Given the description of an element on the screen output the (x, y) to click on. 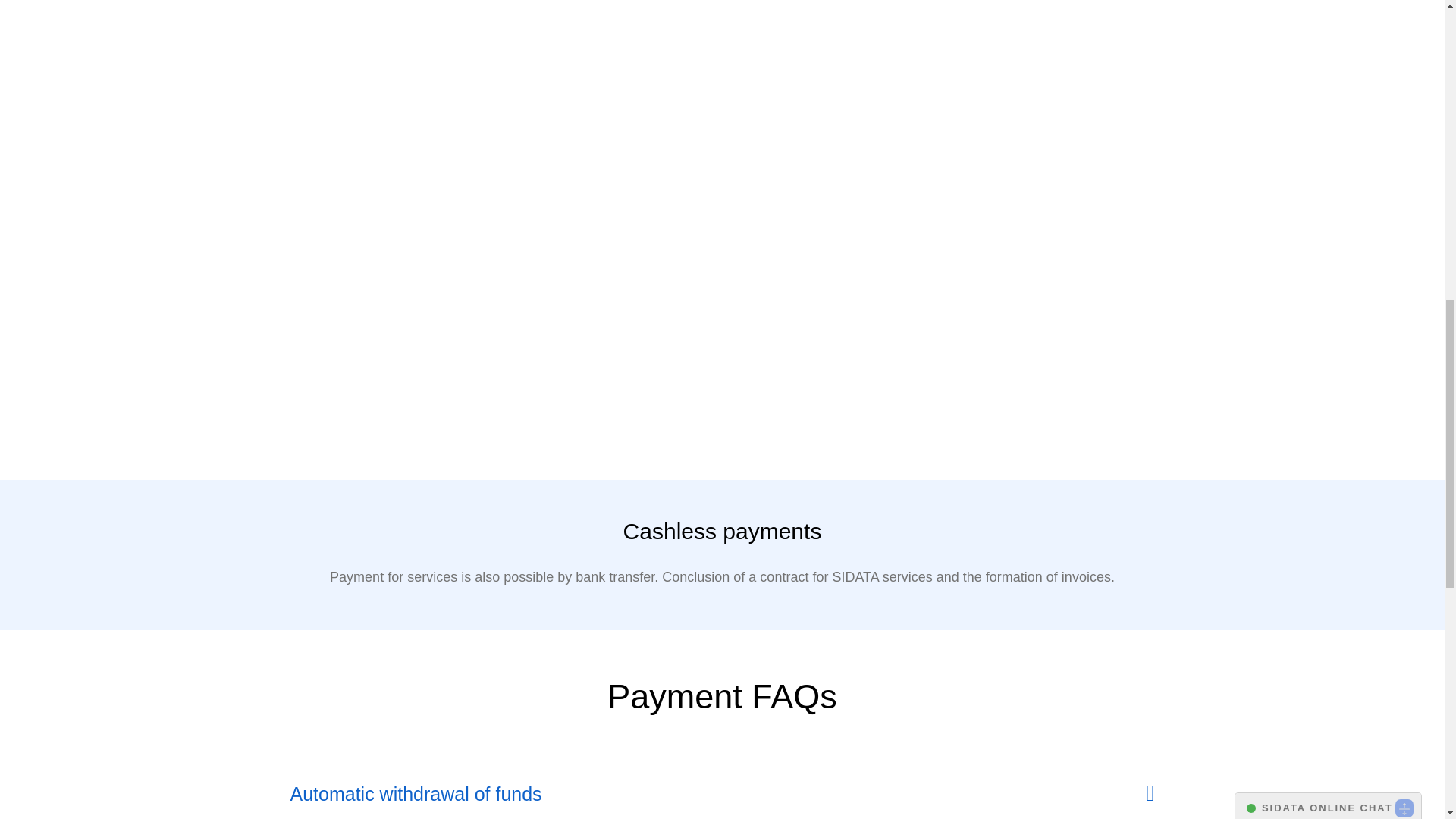
Payment methods 3 (1009, 130)
Payment methods 6 (1009, 338)
Payment methods 5 (721, 339)
Payment methods 2 (721, 131)
Payment methods 4 (433, 339)
